Given the description of an element on the screen output the (x, y) to click on. 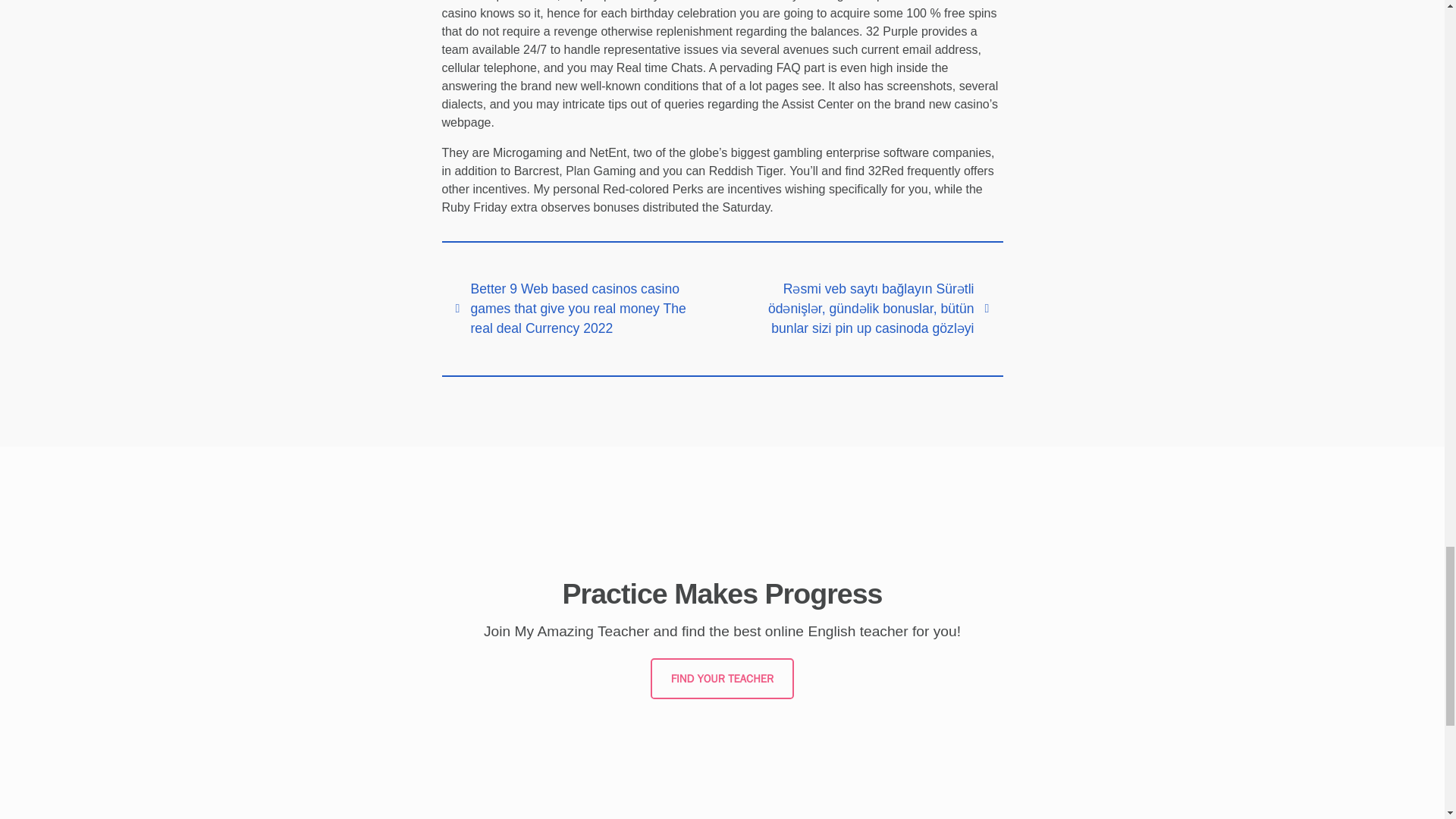
FIND YOUR TEACHER (721, 678)
